Given the description of an element on the screen output the (x, y) to click on. 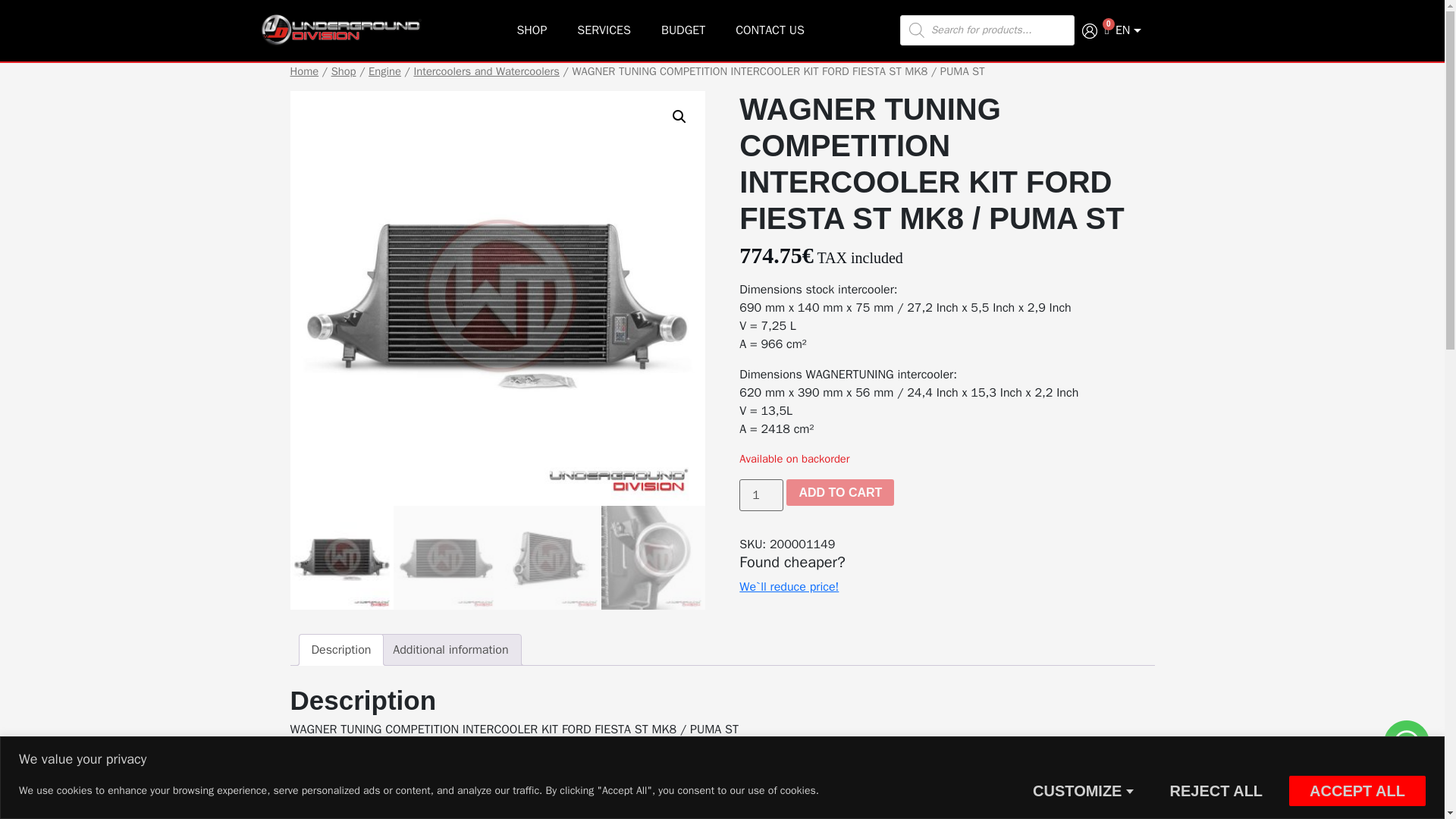
REJECT ALL (1215, 789)
CUSTOMIZE (1082, 789)
1 (761, 495)
BUDGET (683, 30)
SERVICES (604, 30)
CONTACT US (769, 30)
ACCEPT ALL (1356, 789)
SHOP (531, 30)
